Given the description of an element on the screen output the (x, y) to click on. 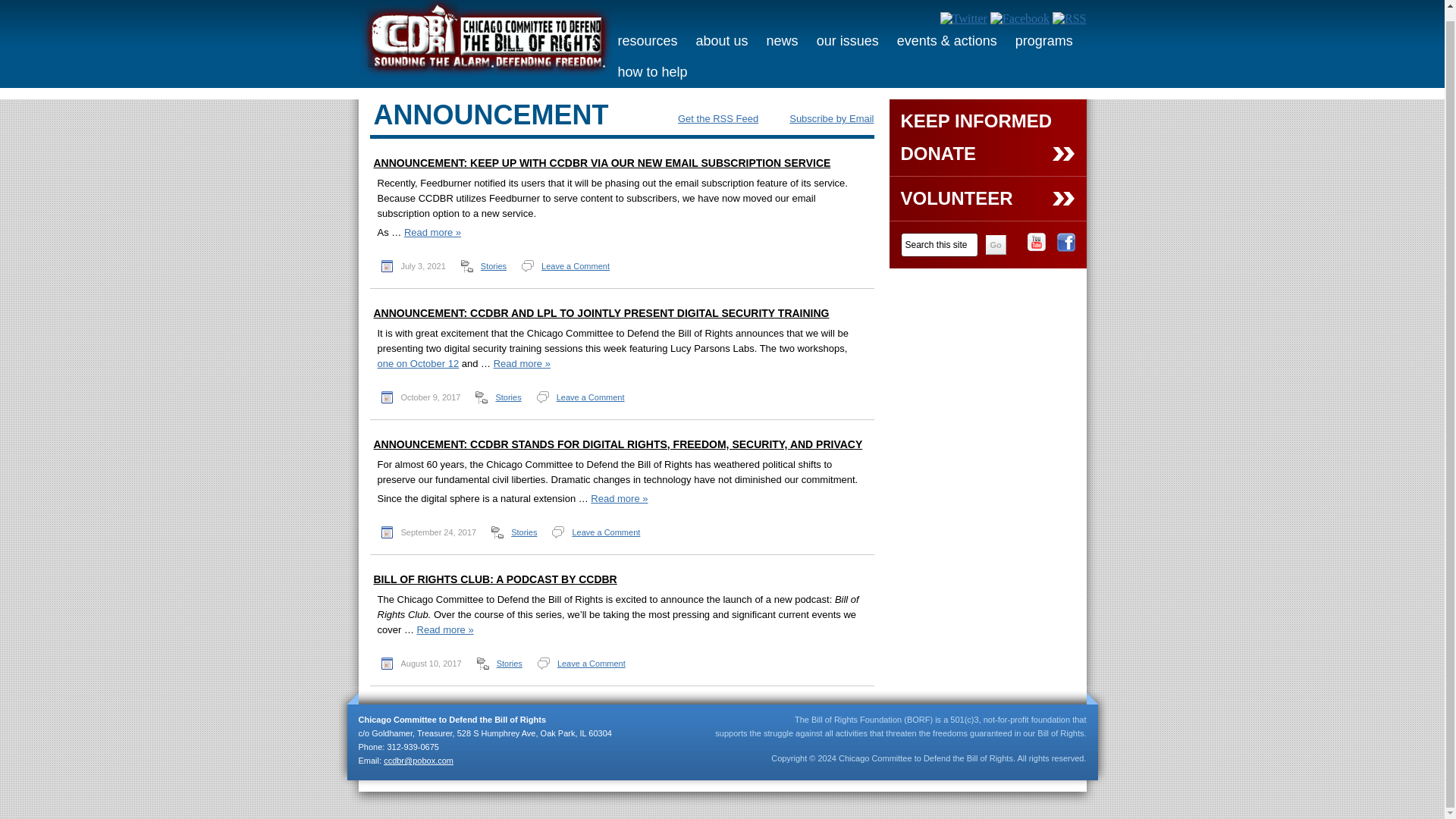
about us (722, 40)
Stories (493, 266)
resources (646, 40)
Leave a Comment (575, 266)
Leave a Comment (590, 397)
programs (1043, 40)
Get the RSS Feed (708, 118)
Volunteer (987, 204)
Search this site (939, 244)
Stories (508, 397)
